Given the description of an element on the screen output the (x, y) to click on. 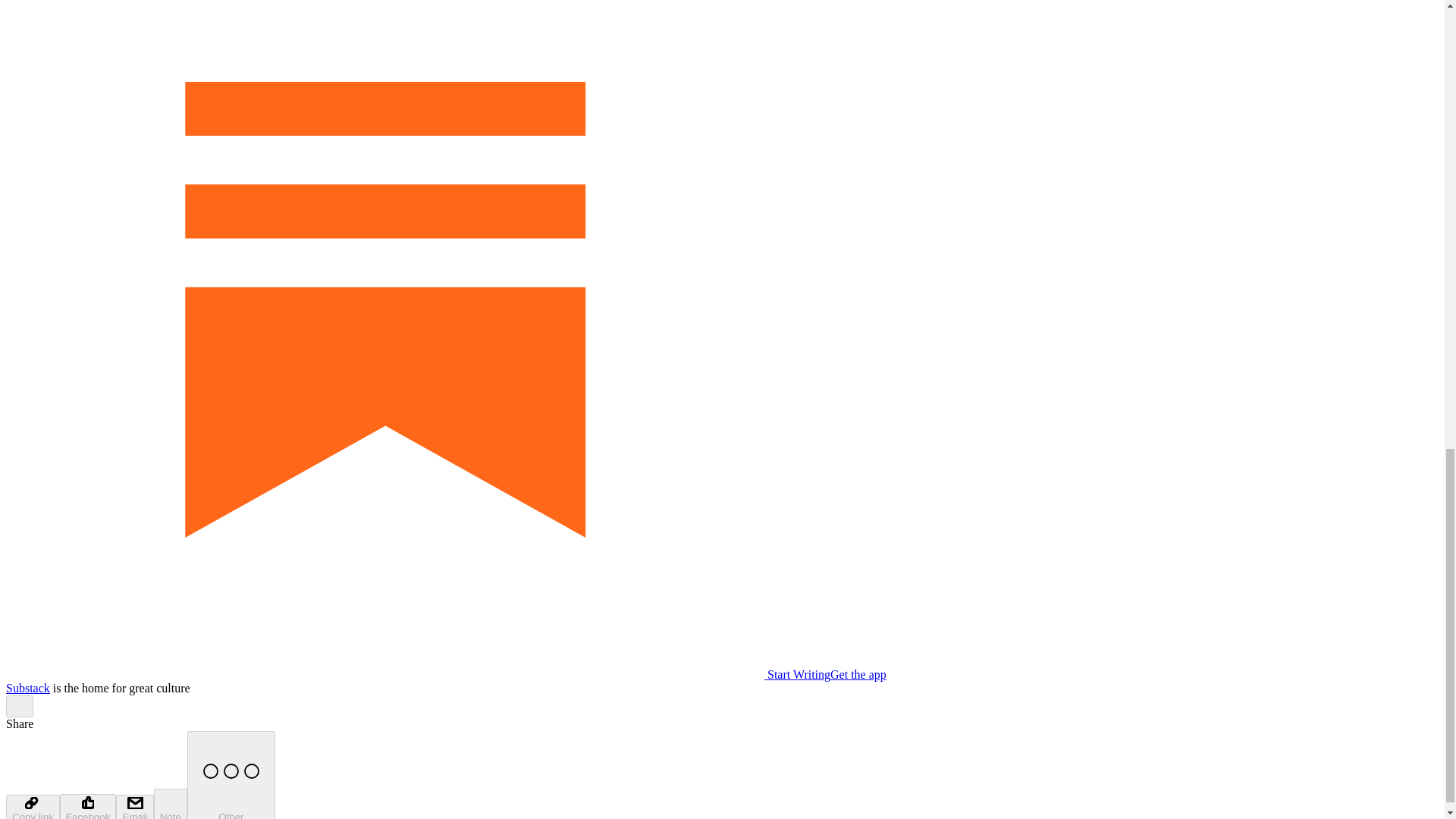
Start Writing (417, 674)
Get the app (857, 674)
Substack (27, 687)
